Given the description of an element on the screen output the (x, y) to click on. 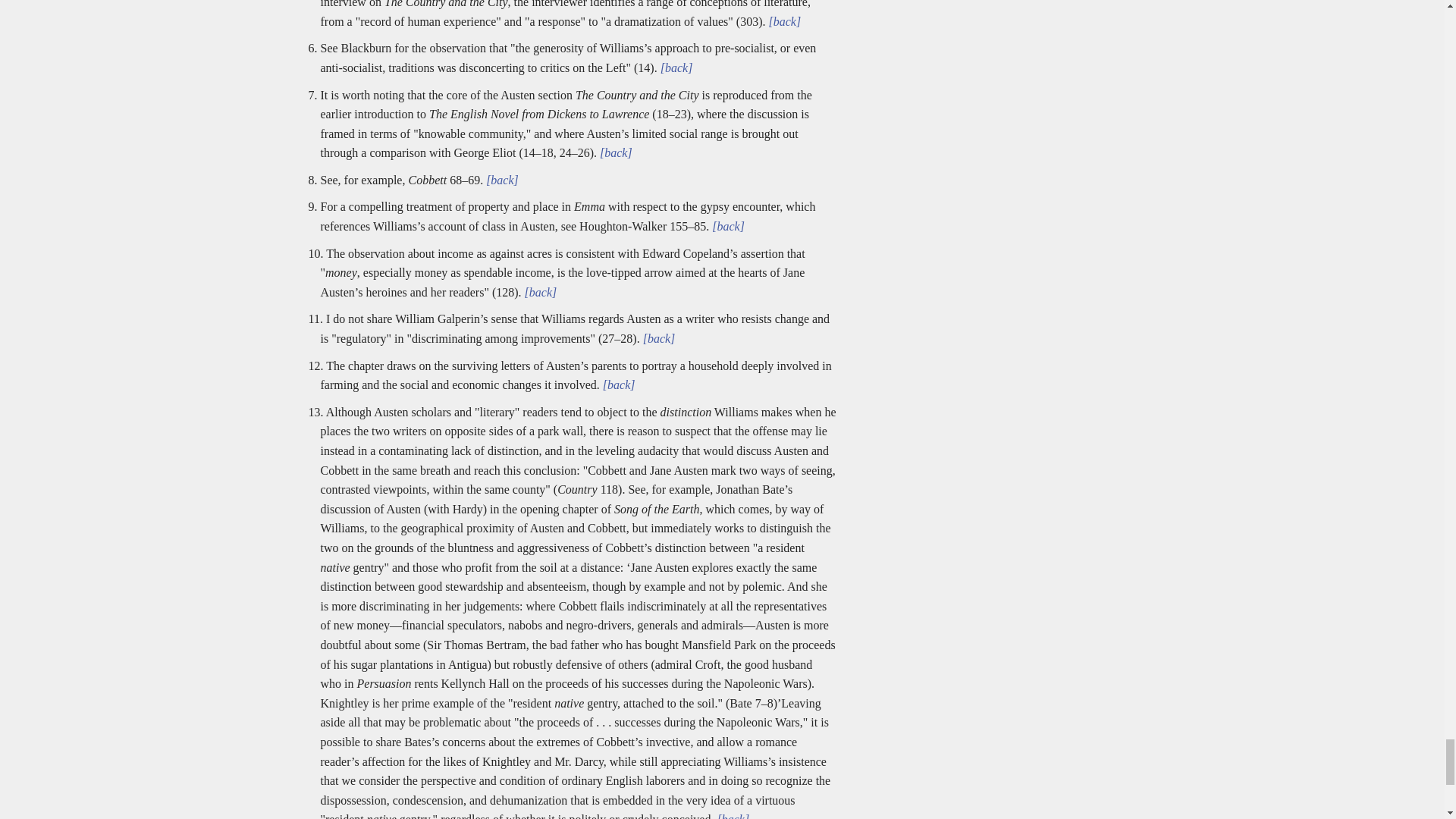
Go back to text (731, 816)
Go back to text (782, 21)
Go back to text (616, 384)
Go back to text (726, 226)
Go back to text (675, 67)
Go back to text (500, 179)
Go back to text (613, 152)
Go back to text (539, 291)
Go back to text (657, 338)
